Given the description of an element on the screen output the (x, y) to click on. 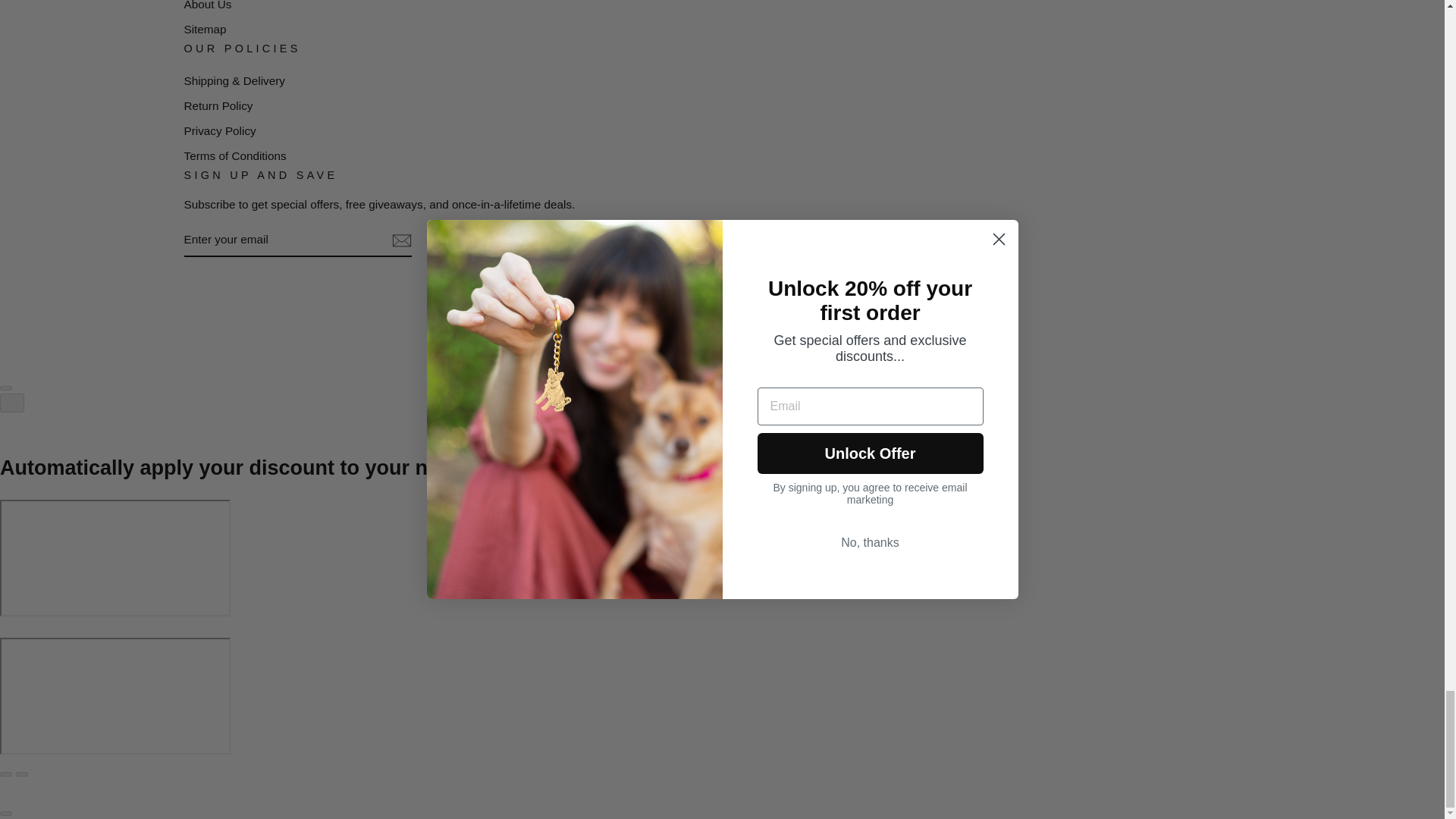
icon-email (400, 240)
